Given the description of an element on the screen output the (x, y) to click on. 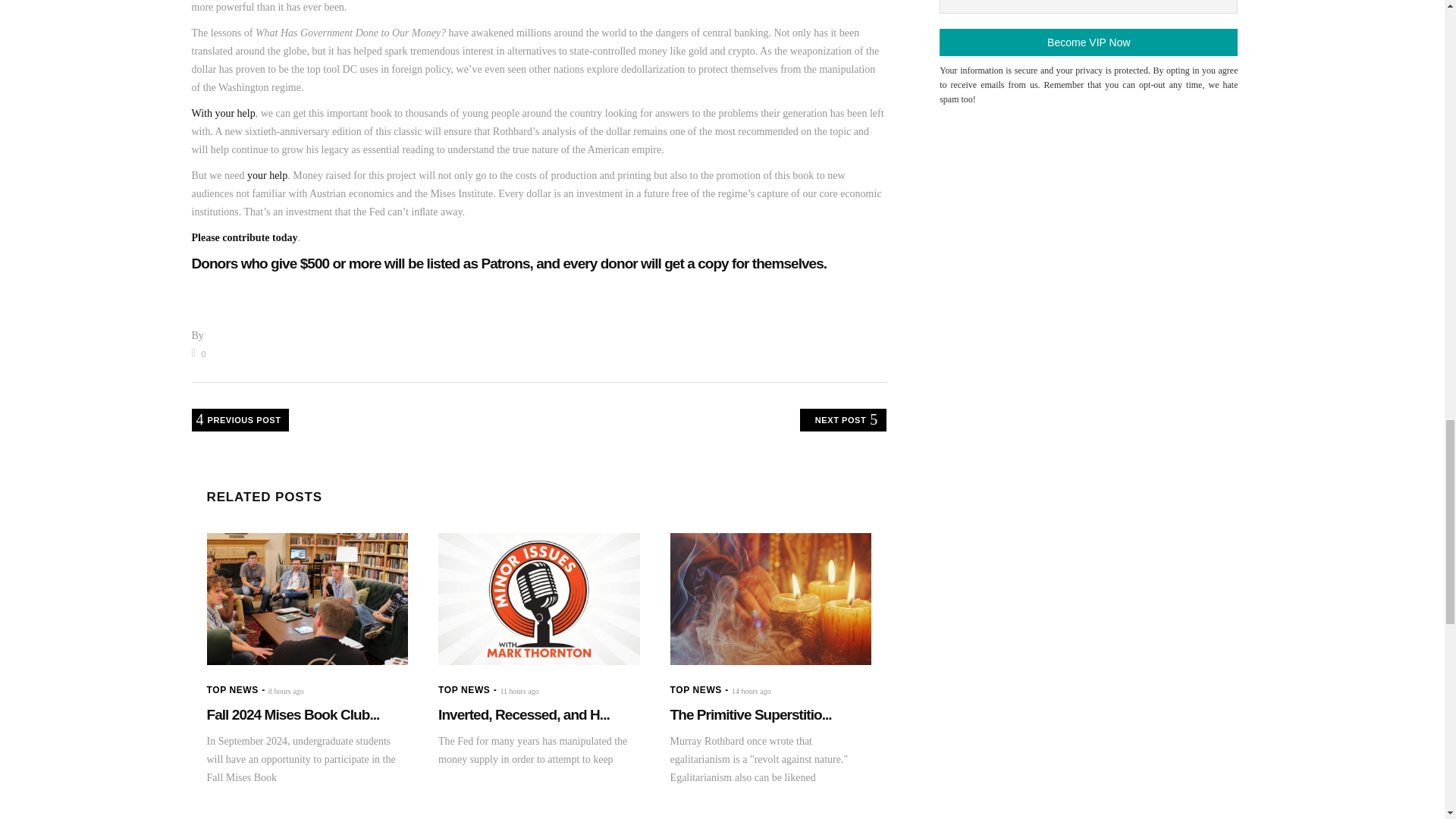
TOP NEWS (231, 689)
PREVIOUS POST (239, 419)
With your help (222, 112)
Fall 2024 Mises Book Club... (292, 714)
Become VIP Now (1088, 42)
NEXT POST (842, 419)
The Primitive Superstition of our Age (770, 599)
Please contribute today (243, 237)
8 hours ago (285, 691)
Inverted, Recessed, and Hung Out to Dry (524, 714)
